Given the description of an element on the screen output the (x, y) to click on. 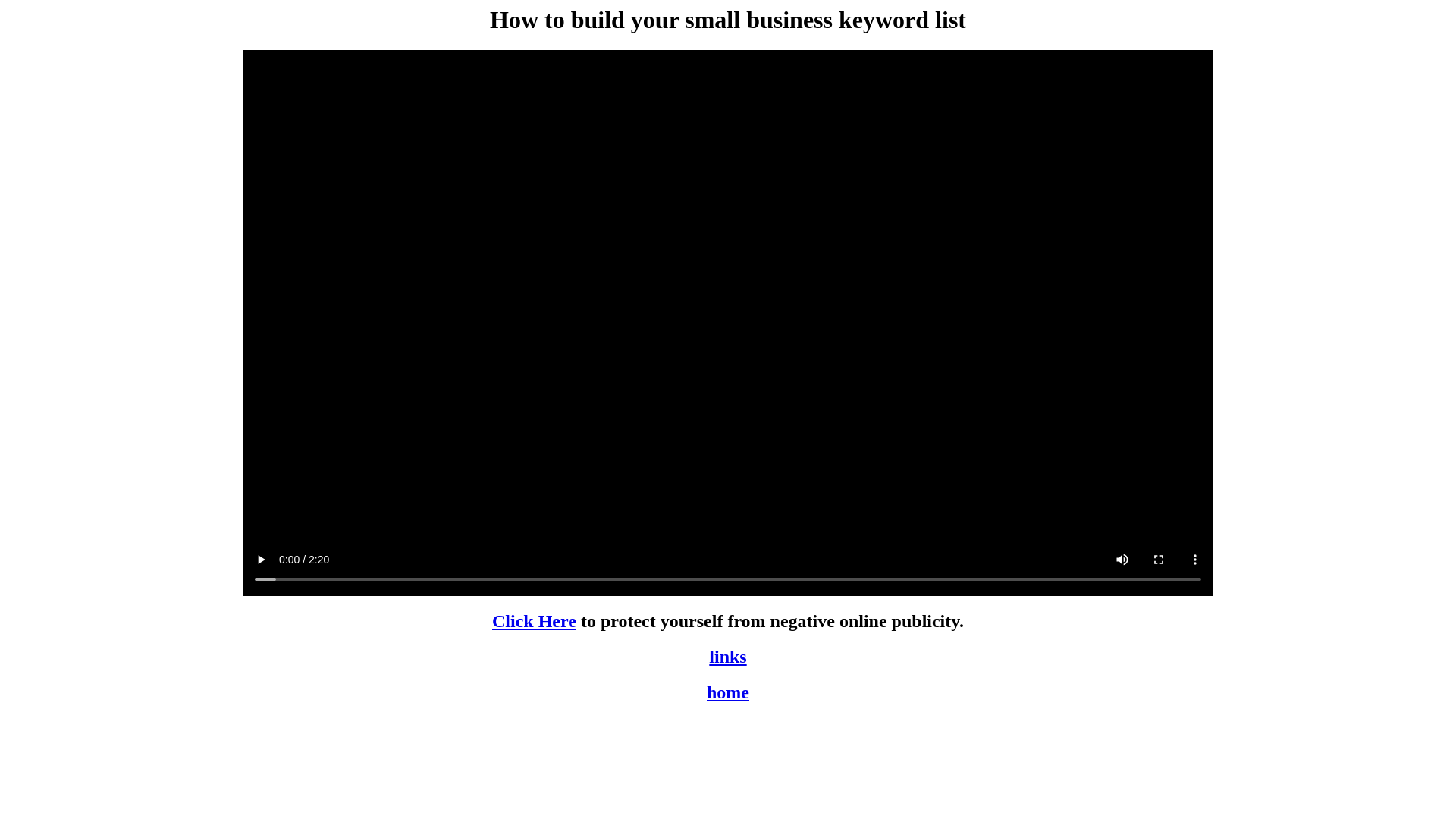
home Element type: text (727, 692)
Click Here Element type: text (534, 620)
links Element type: text (727, 656)
